Given the description of an element on the screen output the (x, y) to click on. 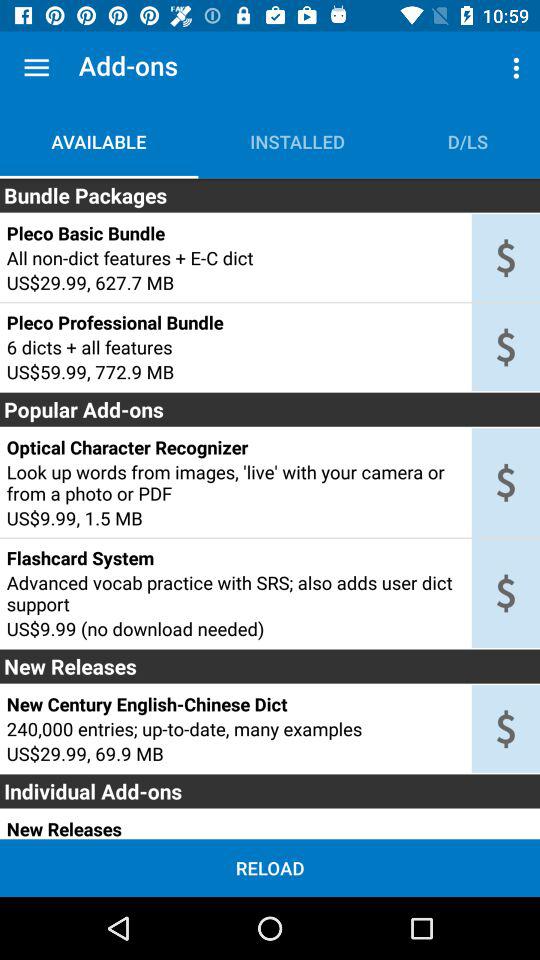
launch the item to the right of the installed icon (468, 141)
